Given the description of an element on the screen output the (x, y) to click on. 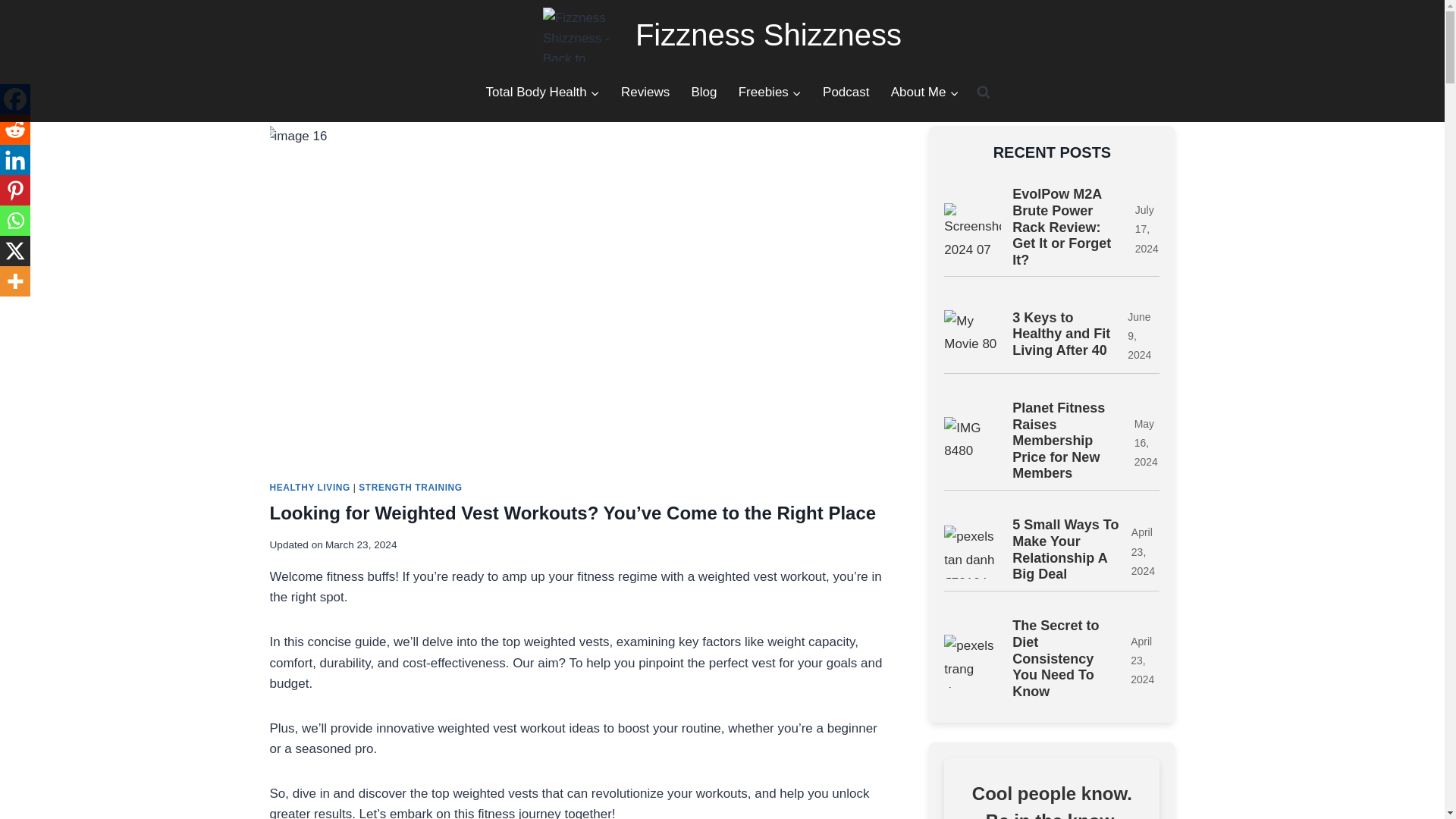
Podcast (846, 91)
Freebies (770, 91)
Blog (702, 91)
X (15, 250)
More (15, 281)
Reviews (644, 91)
About Me (924, 91)
Whatsapp (15, 220)
Linkedin (15, 159)
Total Body Health (542, 91)
